Given the description of an element on the screen output the (x, y) to click on. 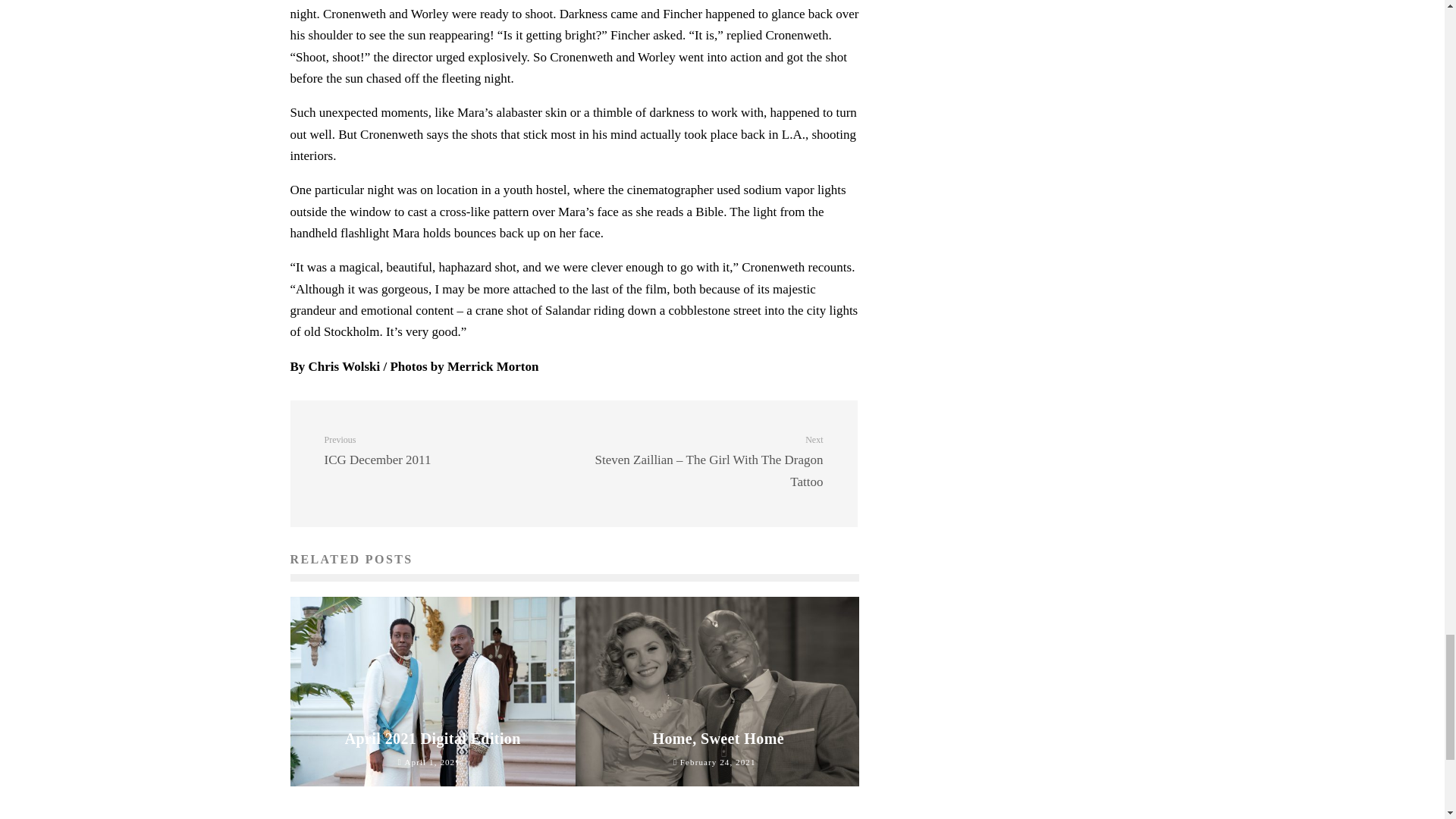
April 2021 Digital Edition (433, 738)
Home, Sweet Home (443, 450)
